Given the description of an element on the screen output the (x, y) to click on. 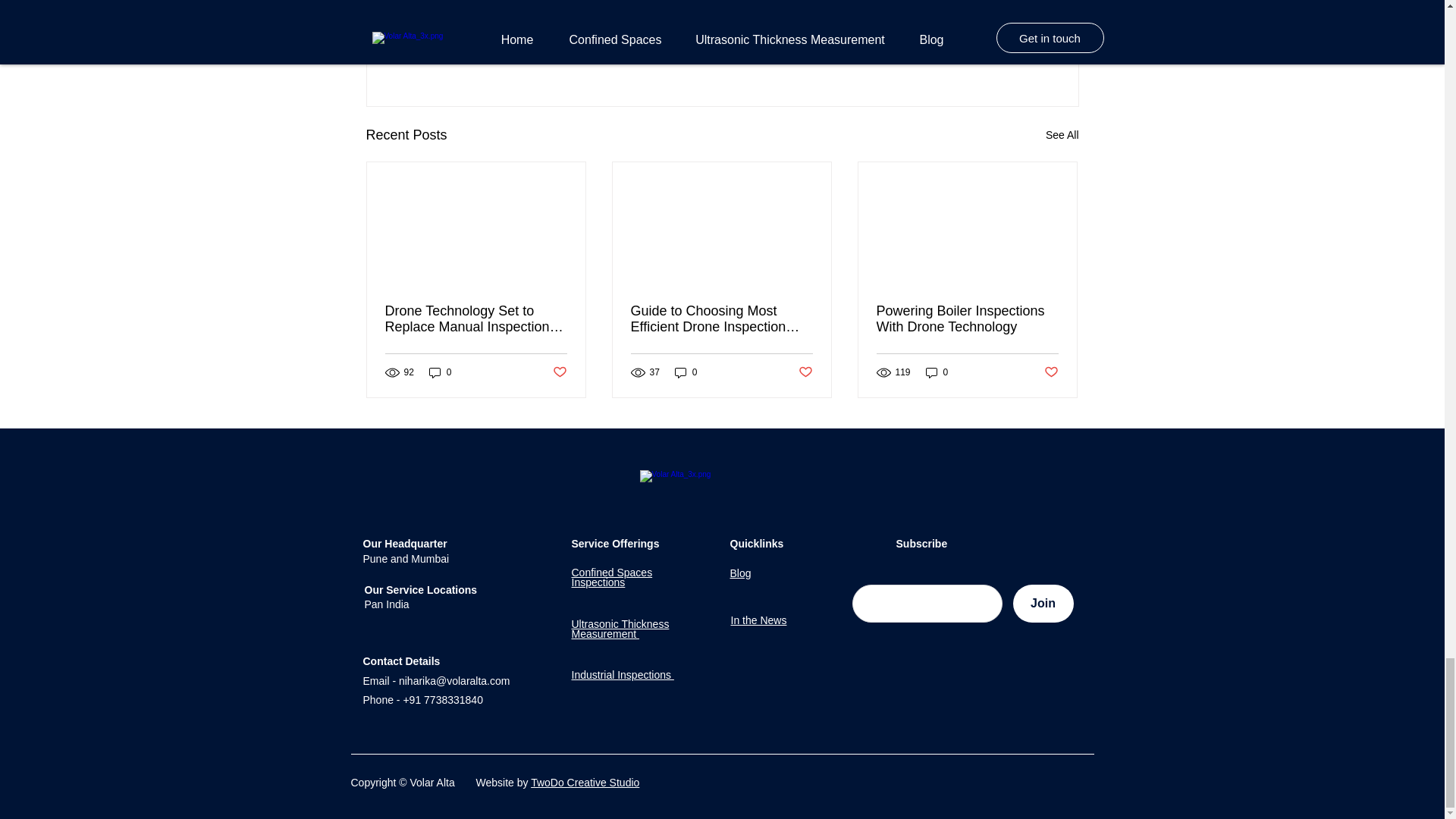
Post not marked as liked (1050, 372)
Post not marked as liked (558, 372)
Post not marked as liked (804, 372)
Ultrasonic Thickness Measurement  (620, 628)
Powering Boiler Inspections With Drone Technology (967, 318)
Confined Spaces Inspections (612, 577)
See All (1061, 135)
0 (937, 372)
Post not marked as liked (995, 52)
0 (440, 372)
0 (685, 372)
